Given the description of an element on the screen output the (x, y) to click on. 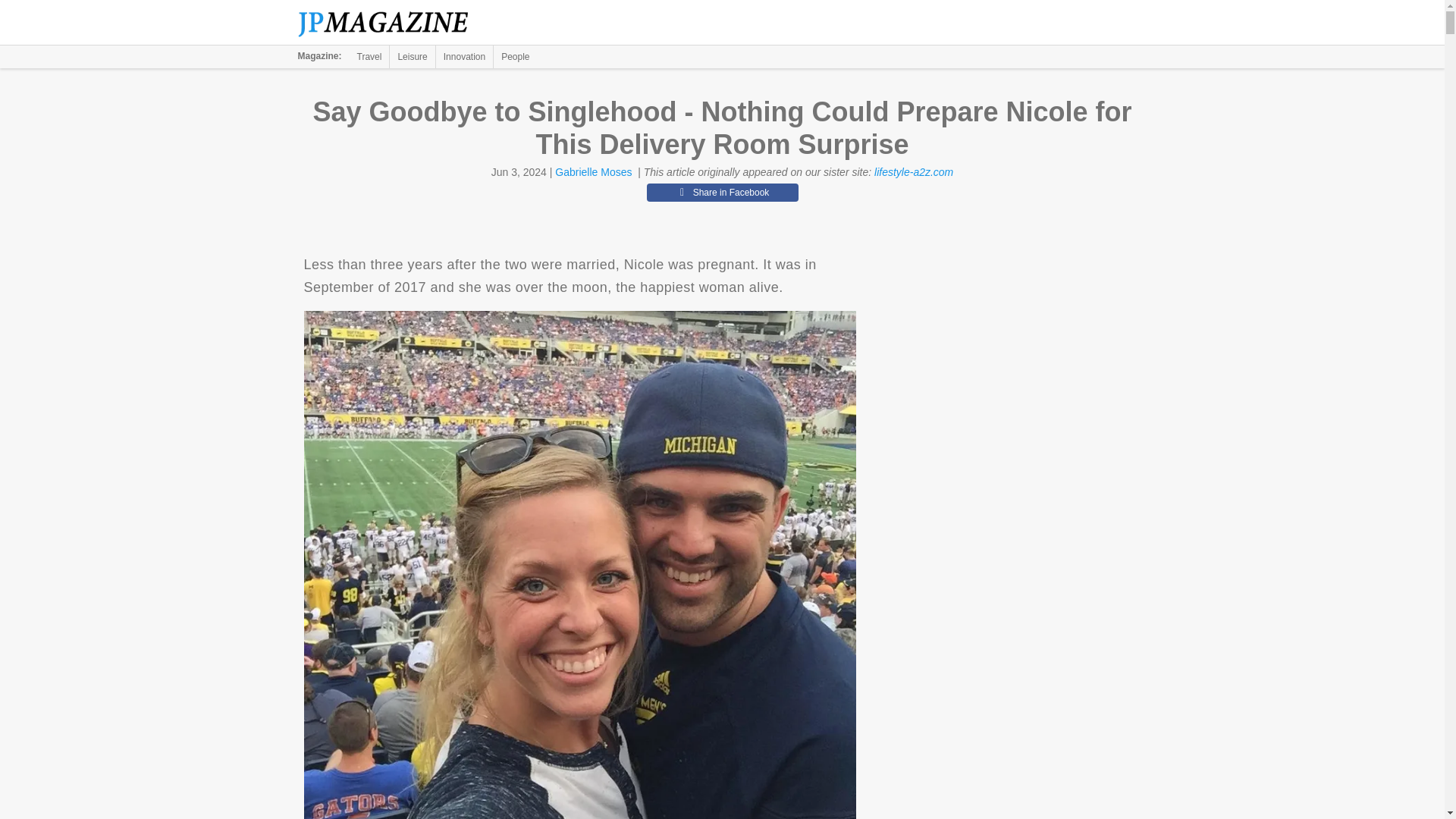
Innovation (464, 56)
Leisure (411, 56)
Gabrielle Moses (592, 172)
People (515, 56)
Travel (369, 56)
Share in Facebook (721, 192)
lifestyle-a2z.com (914, 172)
The Jerusalem Post Magazine (391, 22)
